Given the description of an element on the screen output the (x, y) to click on. 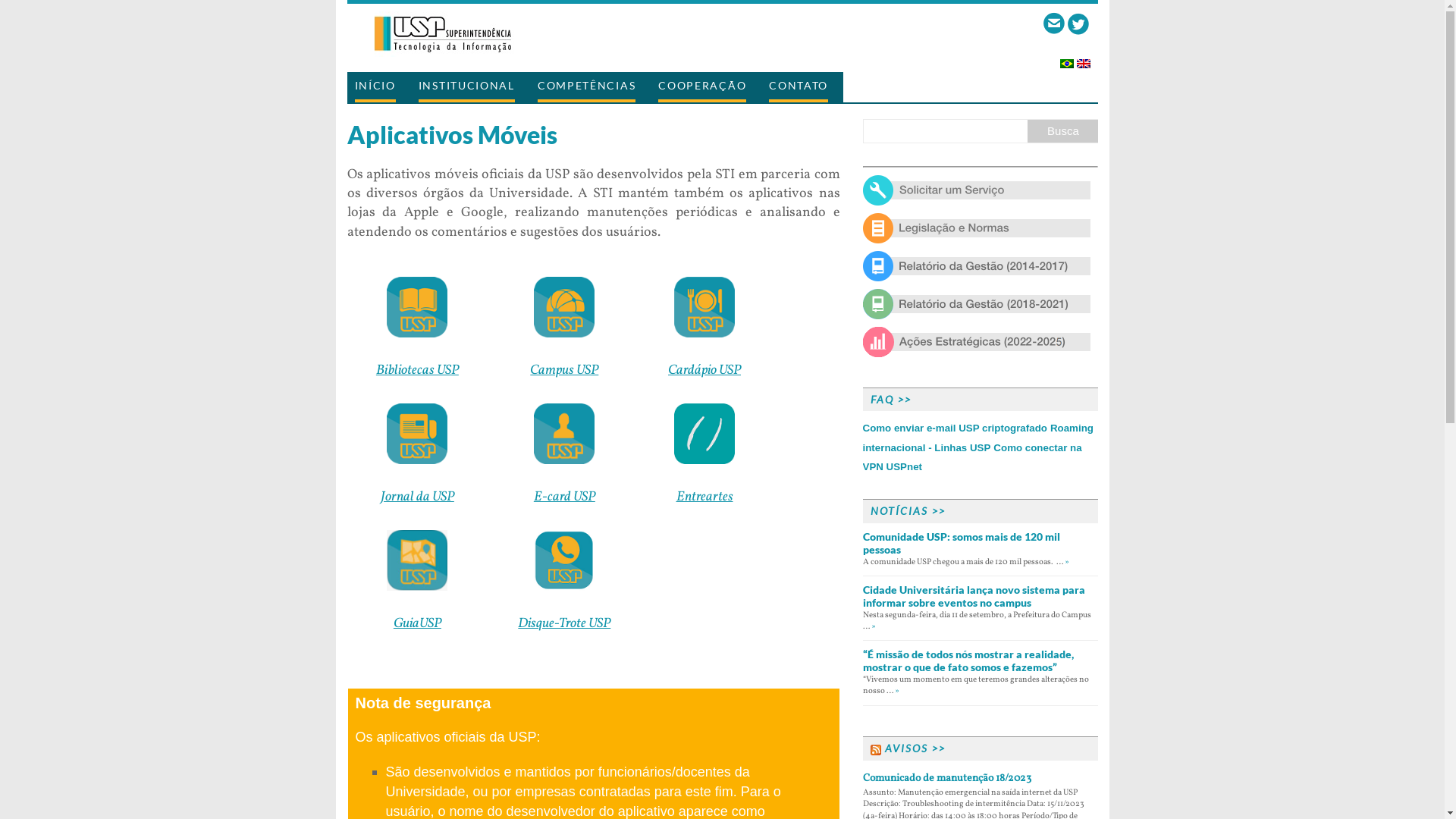
Como conectar na VPN USPnet Element type: text (972, 457)
Roaming internacional - Linhas USP Element type: text (977, 437)
Fale conosco Element type: hover (1053, 23)
Bibliotecas USP Element type: text (417, 369)
Jornal da USP Element type: text (417, 496)
AVISOS >> Element type: text (914, 747)
FAQ >> Element type: text (890, 398)
Disque-Trote USP Element type: text (563, 623)
Como enviar e-mail USP criptografado Element type: text (954, 427)
GuiaUSP Element type: text (417, 623)
English (en) Element type: hover (1083, 58)
CONTATO Element type: text (798, 87)
Campus USP Element type: text (564, 369)
INSTITUCIONAL Element type: text (466, 87)
Busca Element type: text (1062, 130)
E-card USP Element type: text (564, 496)
Comunidade USP: somos mais de 120 mil pessoas Element type: text (961, 542)
Entreartes Element type: text (704, 496)
Twitter Element type: hover (1078, 23)
